Given the description of an element on the screen output the (x, y) to click on. 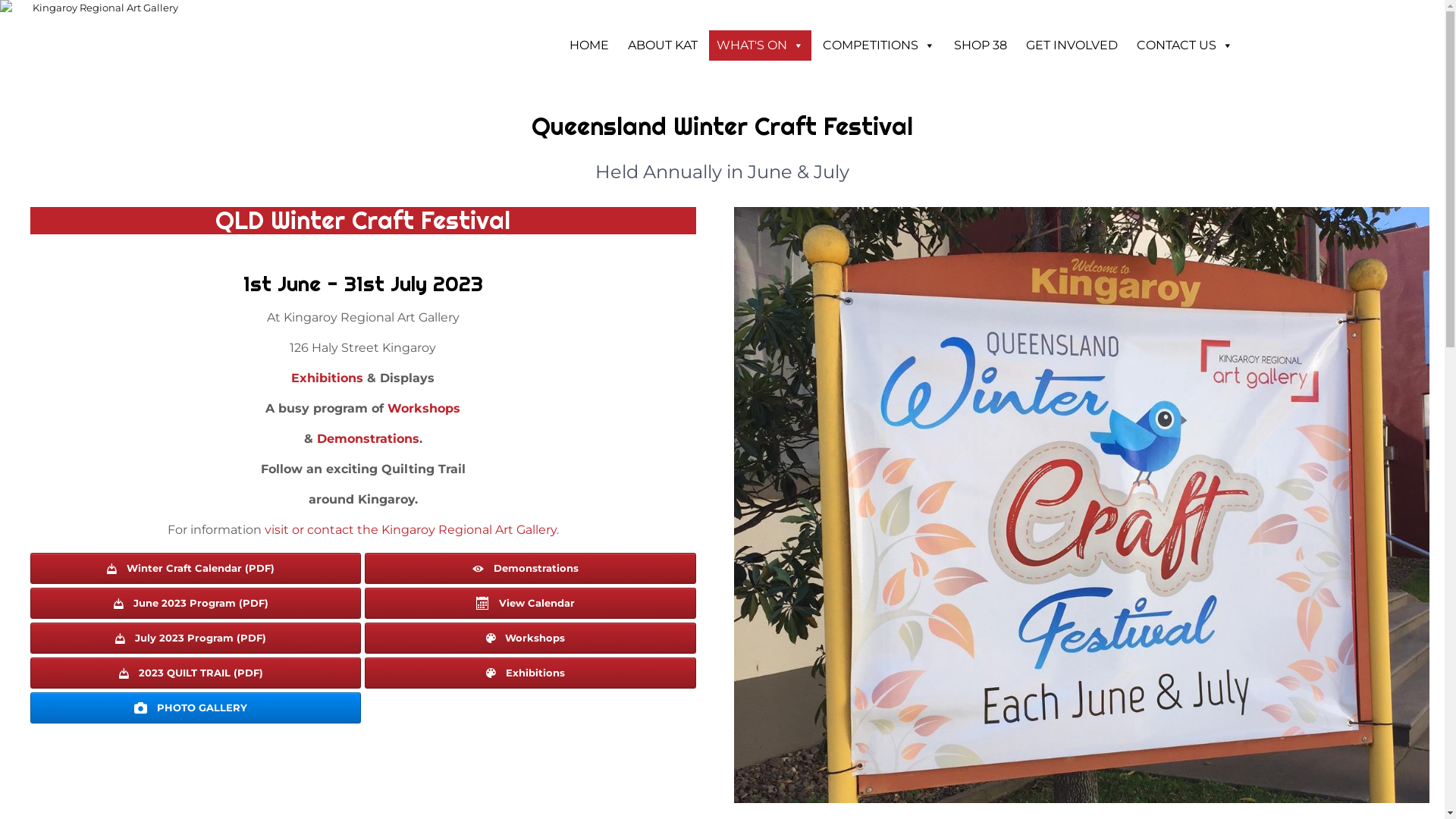
WHAT'S ON Element type: text (760, 45)
PHOTO GALLERY Element type: text (195, 707)
Winter Craft Calendar (PDF) Element type: text (195, 567)
Exhibitions Element type: text (327, 377)
HOME Element type: text (588, 45)
Workshops Element type: text (529, 637)
June 2023 Program (PDF) Element type: text (195, 602)
Demonstrations Element type: text (367, 438)
July 2023 Program (PDF) Element type: text (195, 637)
ABOUT KAT Element type: text (662, 45)
Workshops Element type: text (423, 408)
Exhibitions Element type: text (529, 672)
2023 QUILT TRAIL (PDF) Element type: text (195, 672)
View Calendar Element type: text (529, 602)
Demonstrations Element type: text (529, 567)
SHOP 38 Element type: text (980, 45)
CONTACT US Element type: text (1184, 45)
visit or contact the Kingaroy Regional Art Gallery Element type: text (408, 529)
GET INVOLVED Element type: text (1071, 45)
COMPETITIONS Element type: text (878, 45)
